Given the description of an element on the screen output the (x, y) to click on. 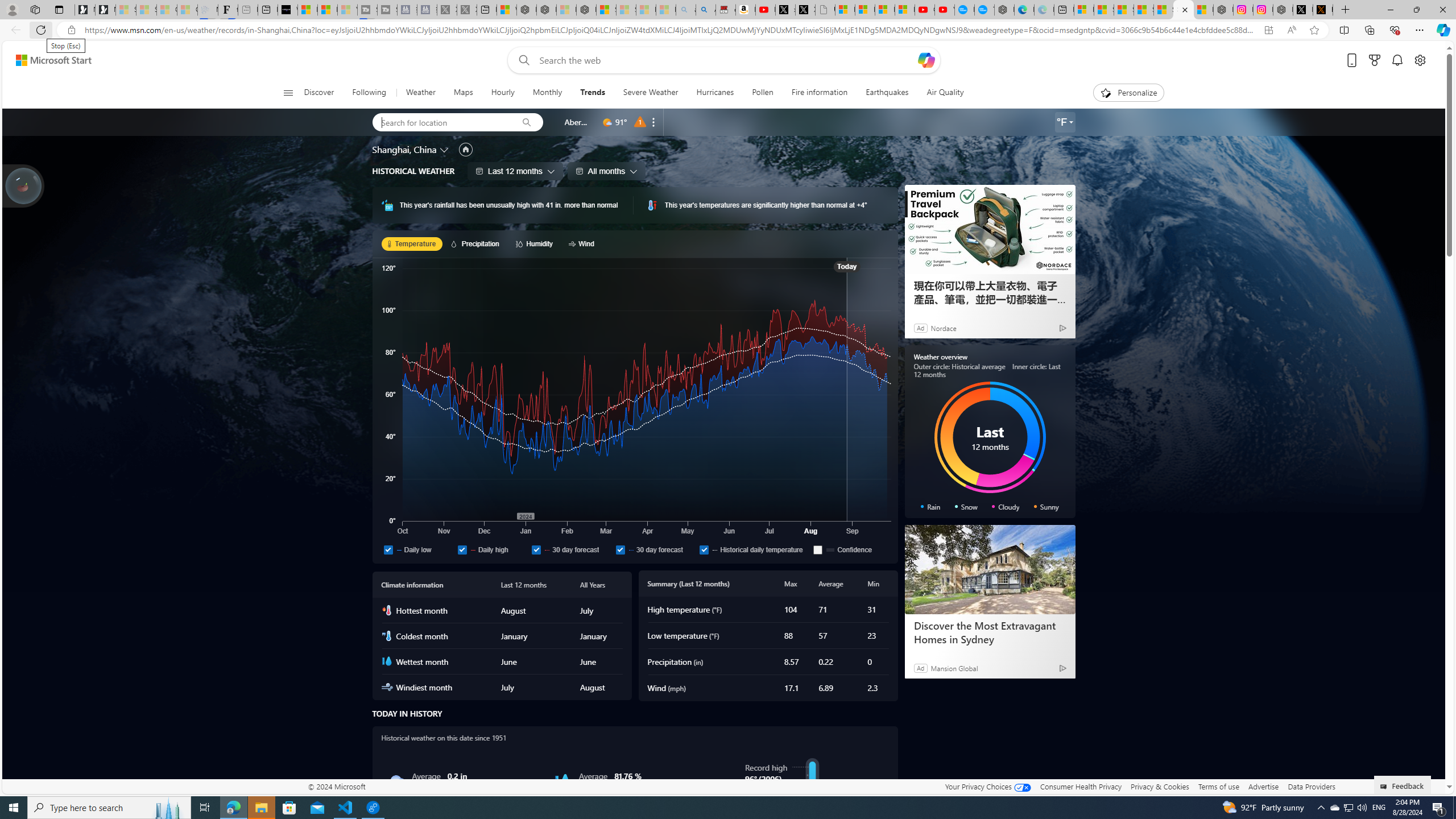
Hourly (502, 92)
Aberdeen (576, 121)
Shanghai, China hourly forecast | Microsoft Weather (1123, 9)
Weather settings (1064, 122)
Following (368, 92)
Close (1442, 9)
Shanghai, China (403, 149)
YouTube Kids - An App Created for Kids to Explore Content (944, 9)
Workspaces (34, 9)
Untitled (825, 9)
Gloom - YouTube (924, 9)
